Given the description of an element on the screen output the (x, y) to click on. 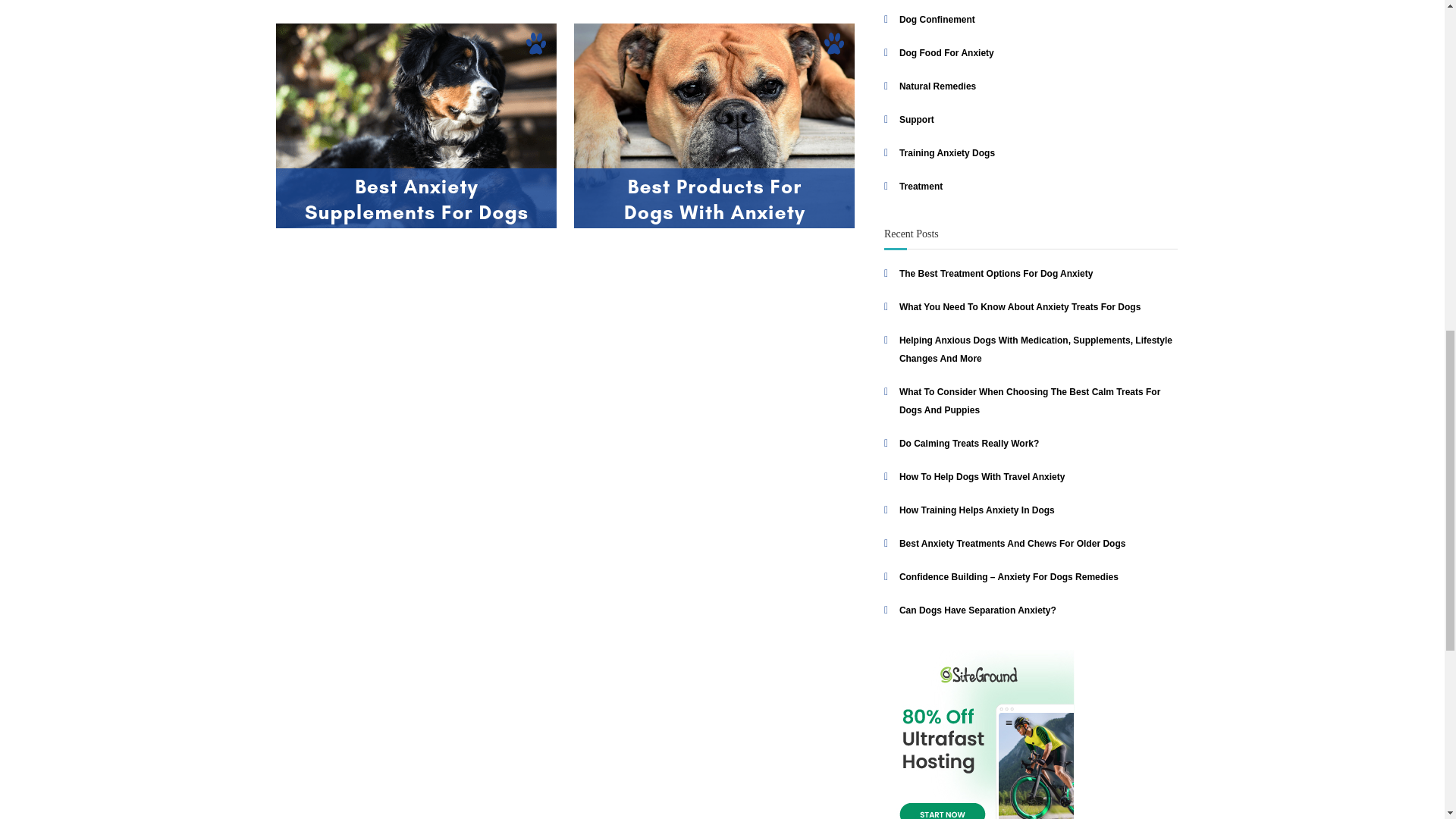
Dog Confinement (937, 19)
Treatment (920, 185)
Training Anxiety Dogs (946, 153)
Support (916, 119)
Best Products For Dogs With Anxiety Buyer Guide (713, 125)
Dog Food For Anxiety (946, 52)
Best Anxiety Supplements For Dogs Buyer Guide (416, 125)
The Best Treatment Options For Dog Anxiety (996, 273)
Natural Remedies (937, 86)
